Given the description of an element on the screen output the (x, y) to click on. 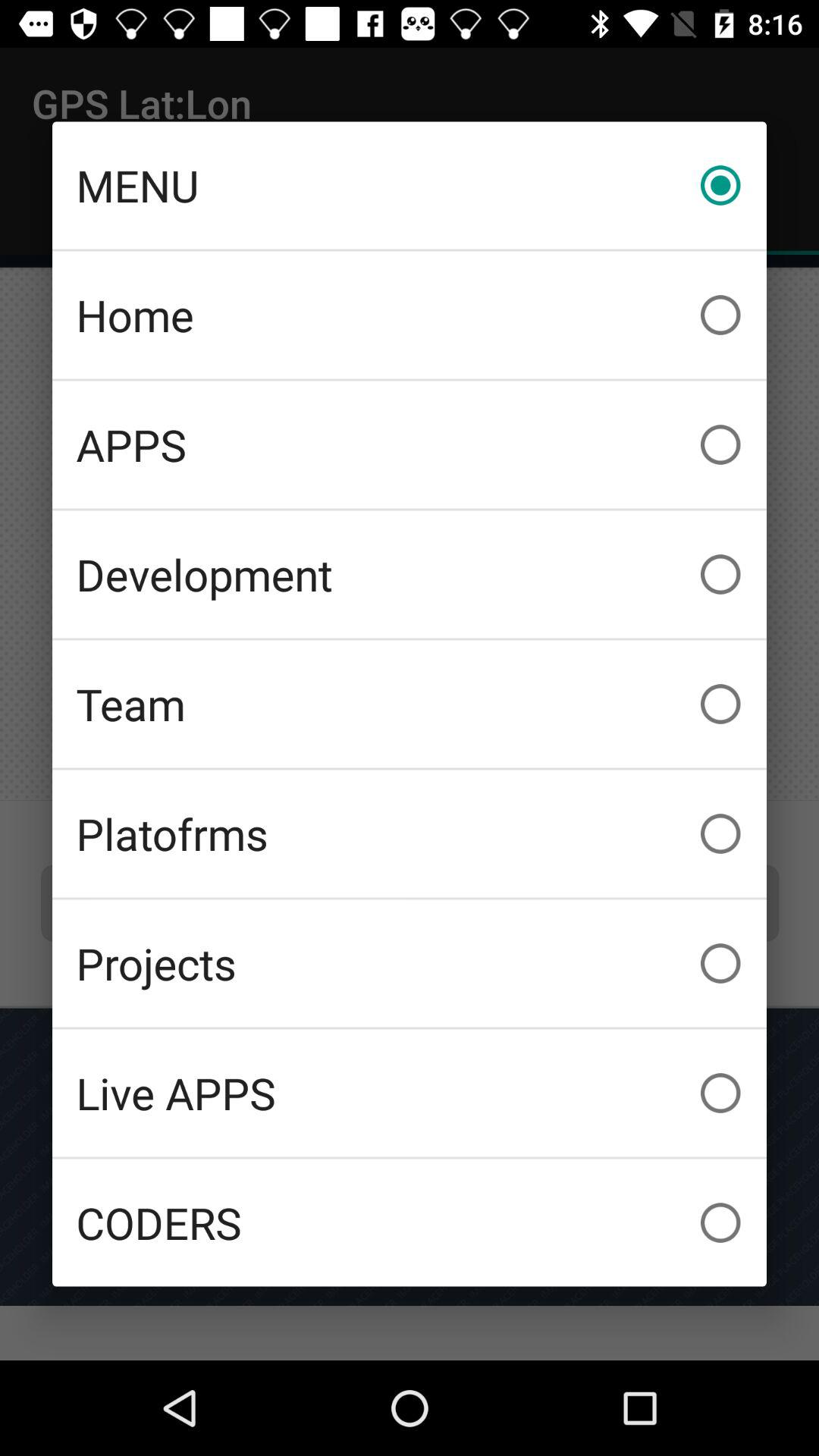
open coders item (409, 1222)
